Given the description of an element on the screen output the (x, y) to click on. 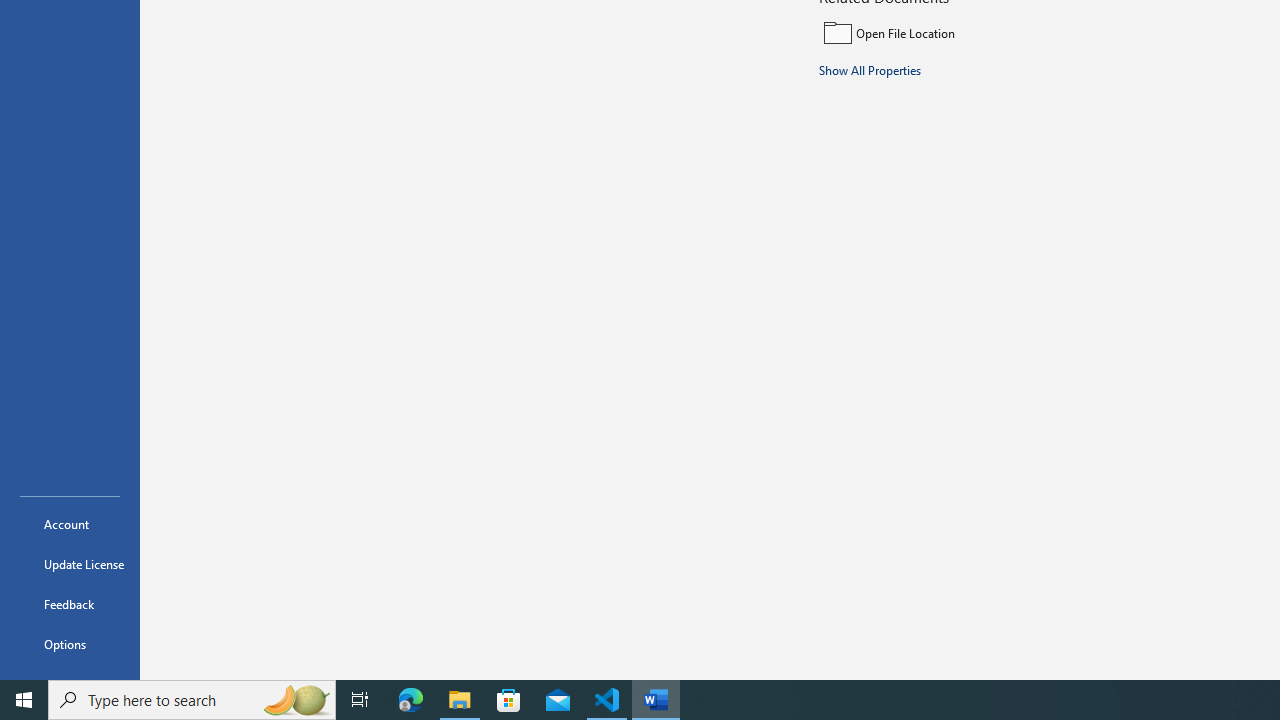
Open File Location (953, 32)
Show All Properties (870, 69)
Update License (69, 563)
Account (69, 523)
Options (69, 643)
Feedback (69, 603)
